Given the description of an element on the screen output the (x, y) to click on. 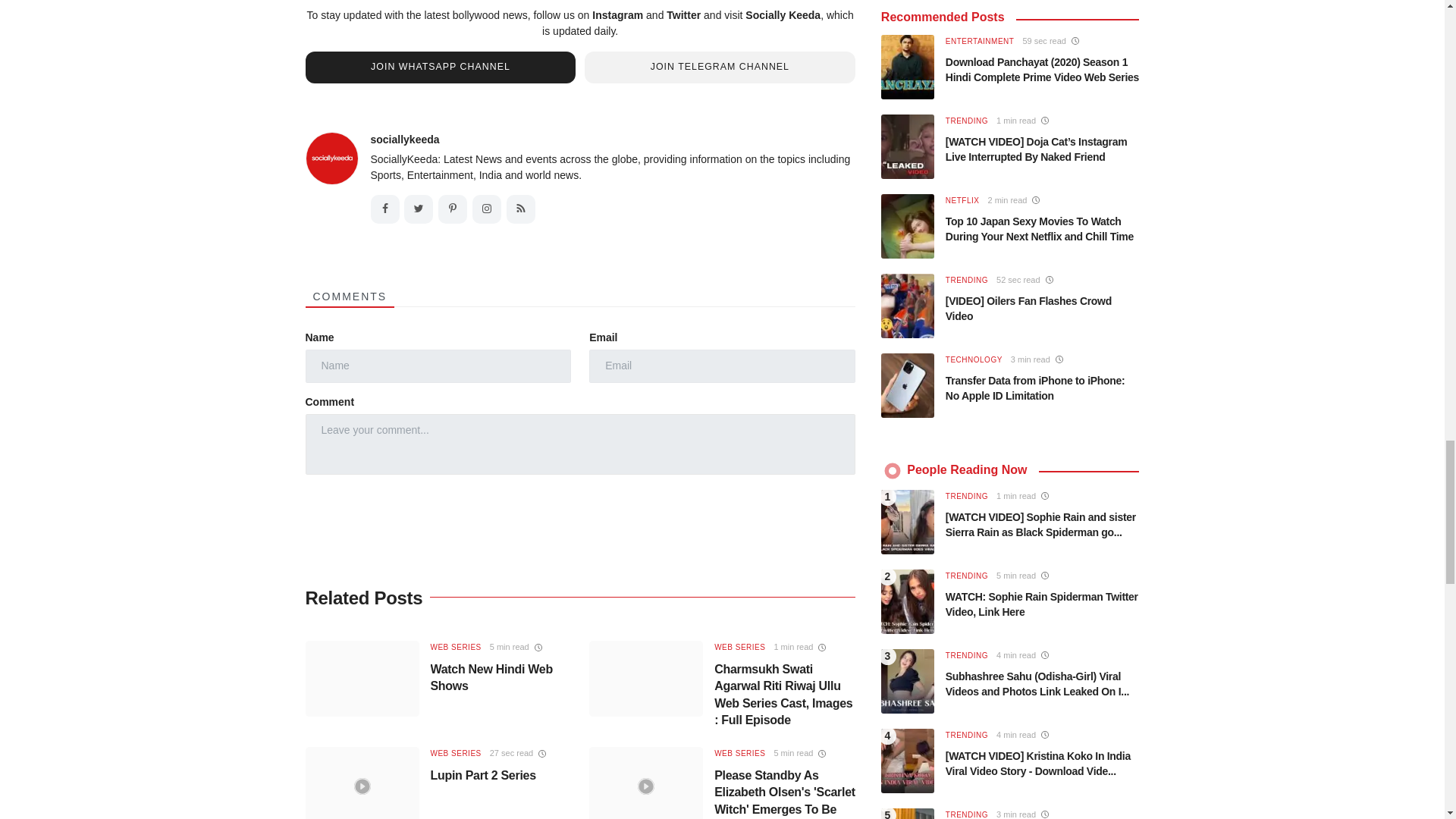
instagram (485, 208)
RSS feed (520, 208)
twitter (418, 208)
pinterest (452, 208)
facebook (383, 208)
